Given the description of an element on the screen output the (x, y) to click on. 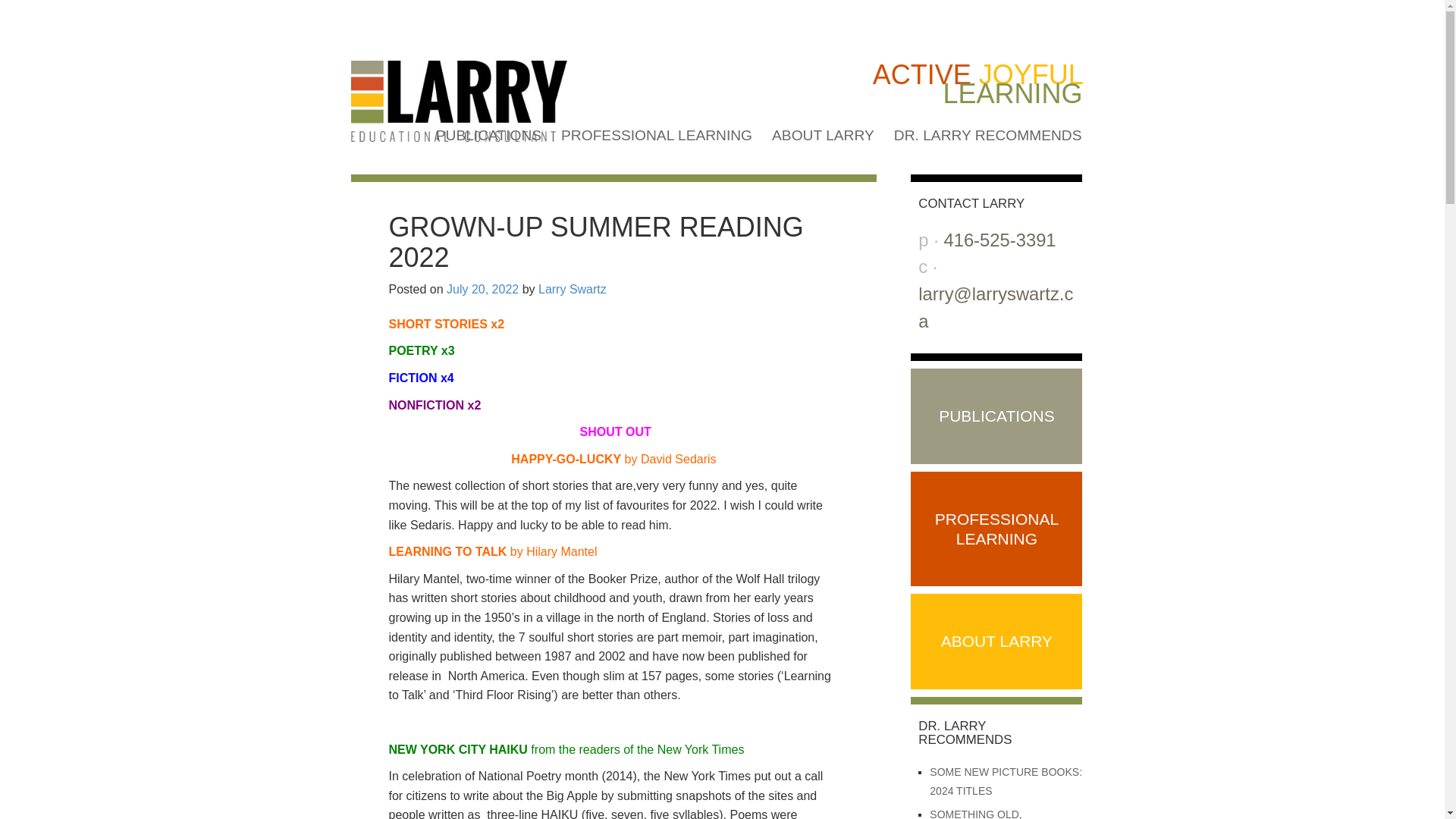
ABOUT LARRY (823, 135)
SOME NEW PICTURE BOOKS: 2024 TITLES (1005, 781)
9:20 am (482, 288)
PROFESSIONAL LEARNING (656, 135)
July 20, 2022 (482, 288)
SOMETHING OLD, SOMETHING NEW: Grown-Up Titles (1002, 813)
PUBLICATIONS (488, 135)
DR. LARRY RECOMMENDS (987, 135)
View all posts by Larry Swartz (572, 288)
Larry Swartz (572, 288)
